Given the description of an element on the screen output the (x, y) to click on. 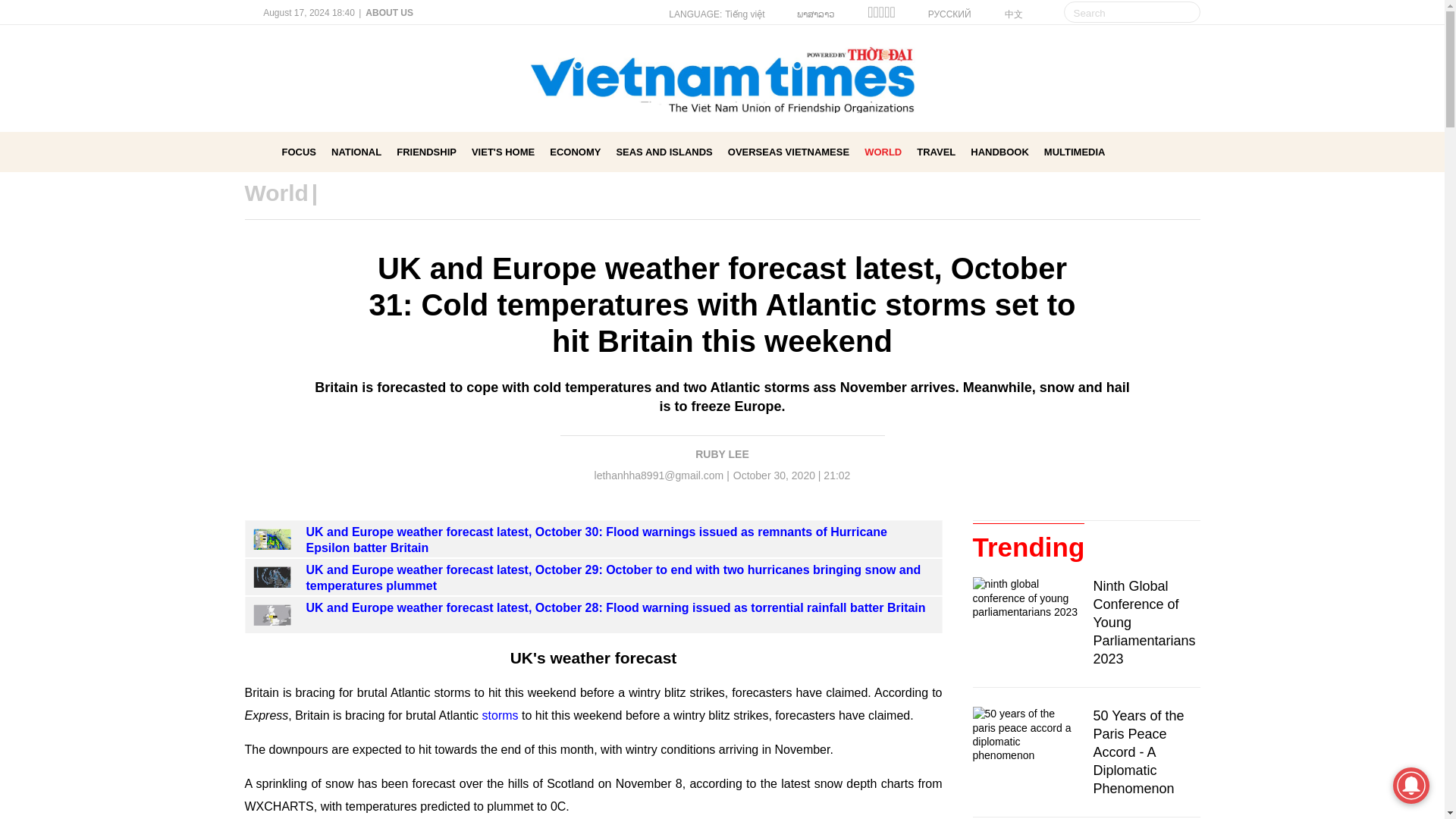
FRIENDSHIP (426, 152)
TRAVEL (936, 152)
SEAS AND ISLANDS (663, 152)
OVERSEAS VIETNAMESE (788, 152)
MULTIMEDIA (1074, 152)
HANDBOOK (1000, 152)
